Given the description of an element on the screen output the (x, y) to click on. 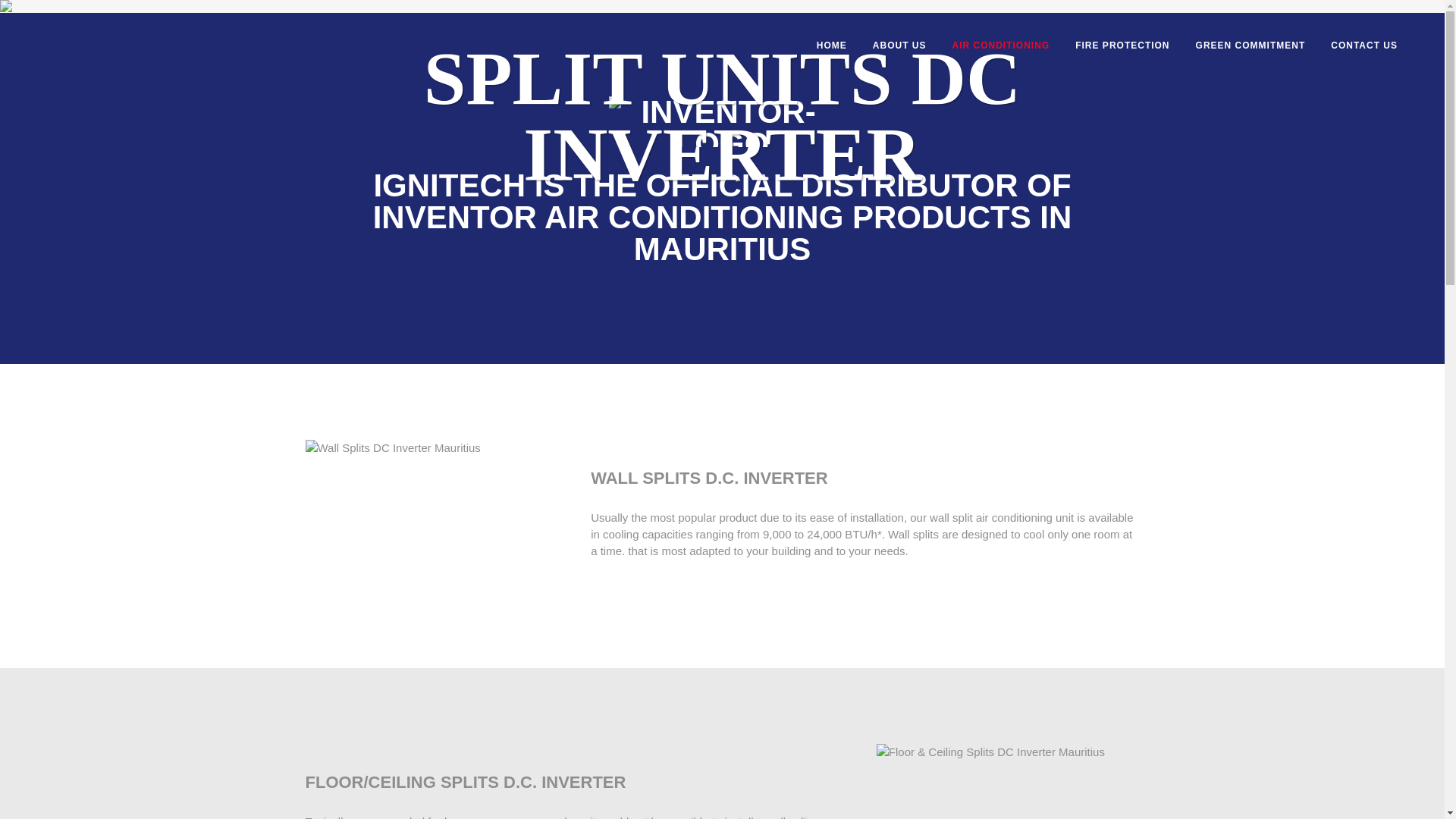
CONTACT US (1363, 45)
GREEN COMMITMENT (1250, 45)
AIR CONDITIONING (1000, 45)
FIRE PROTECTION (1122, 45)
